Given the description of an element on the screen output the (x, y) to click on. 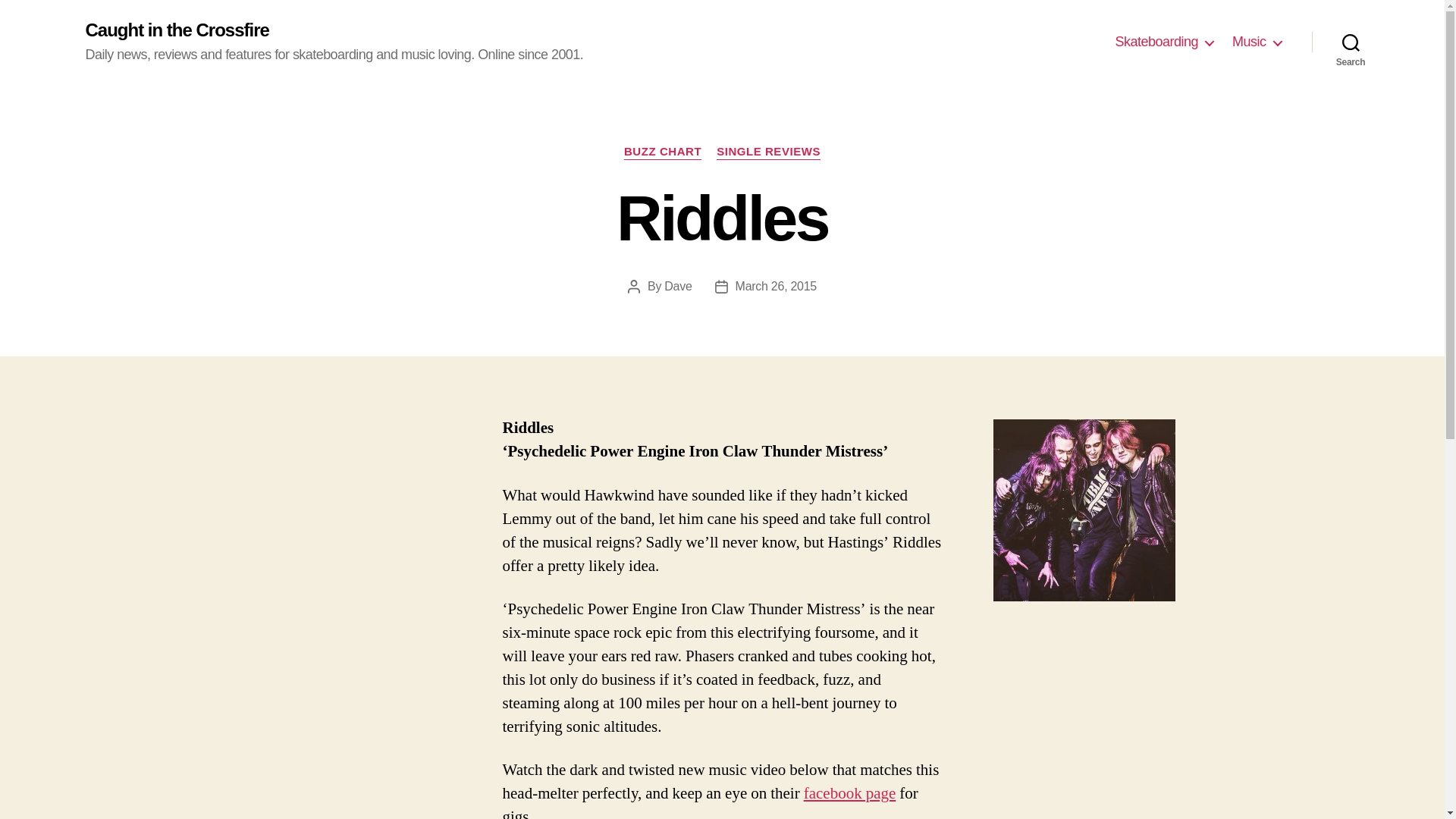
Caught in the Crossfire (175, 30)
Skateboarding (1163, 42)
Music (1256, 42)
Search (1350, 41)
